Given the description of an element on the screen output the (x, y) to click on. 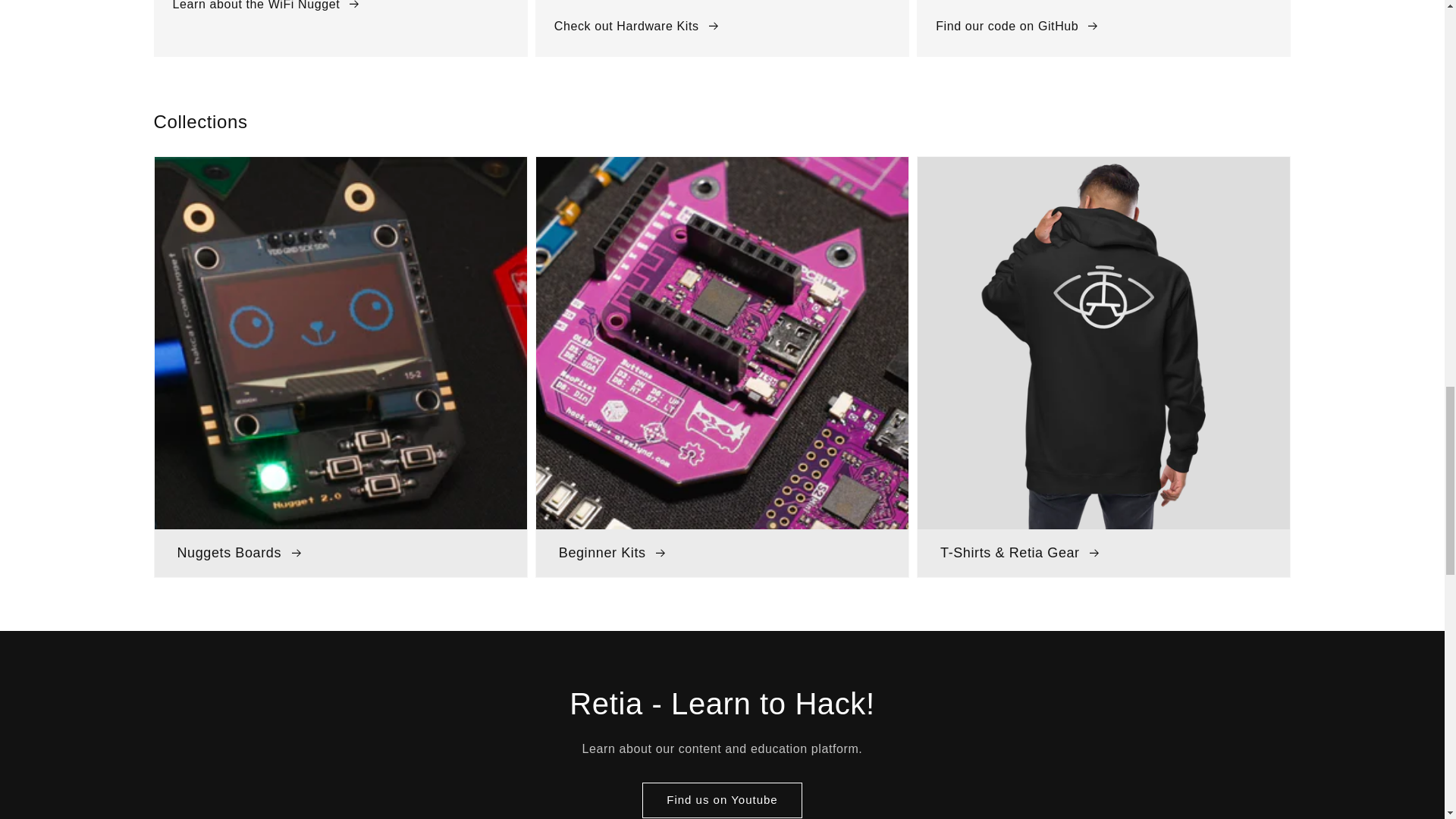
Find our code on GitHub  (1017, 26)
Learn about the WiFi Nugget  (267, 7)
Check out Hardware Kits  (637, 26)
